Given the description of an element on the screen output the (x, y) to click on. 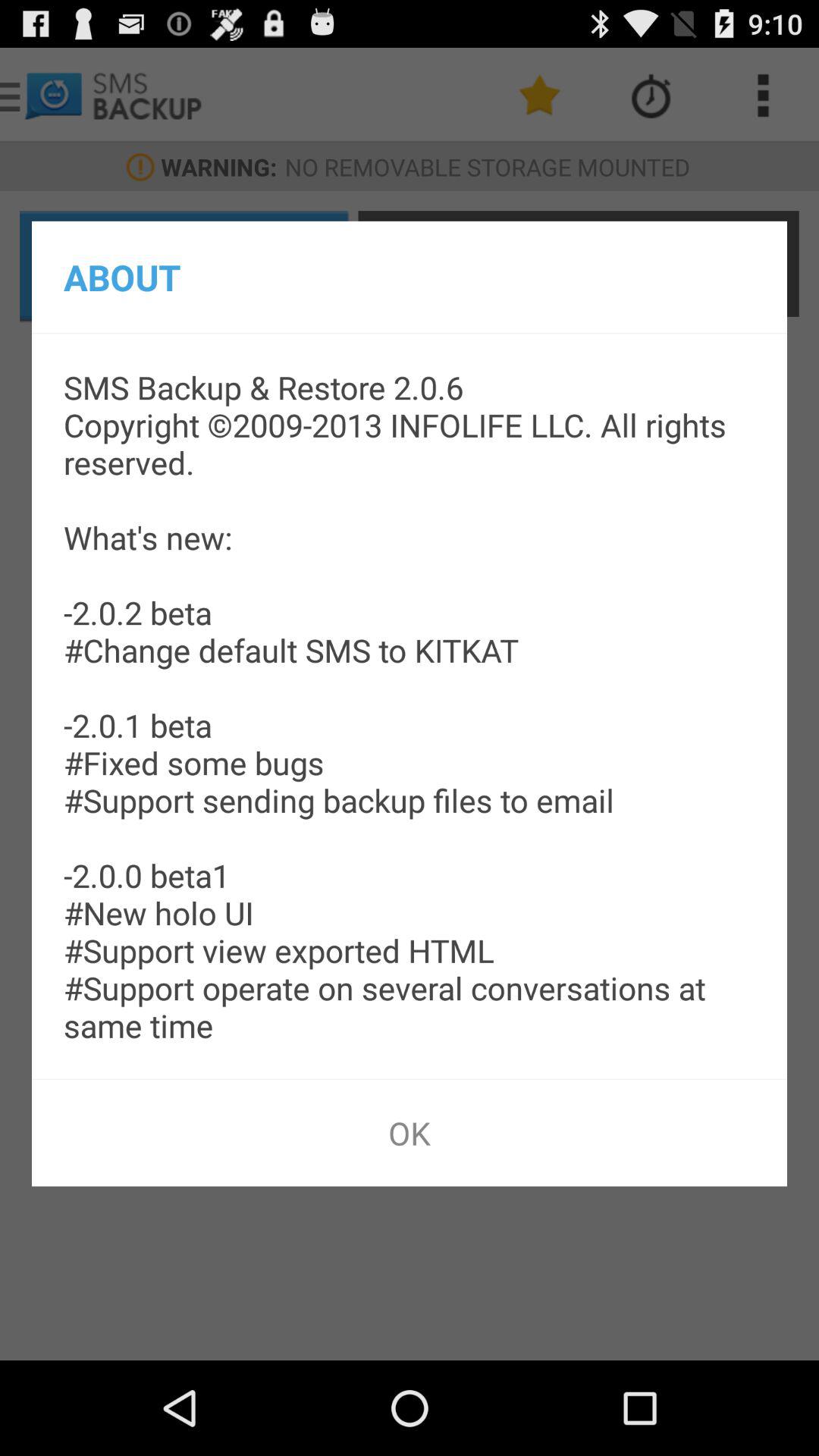
open ok button (409, 1132)
